Given the description of an element on the screen output the (x, y) to click on. 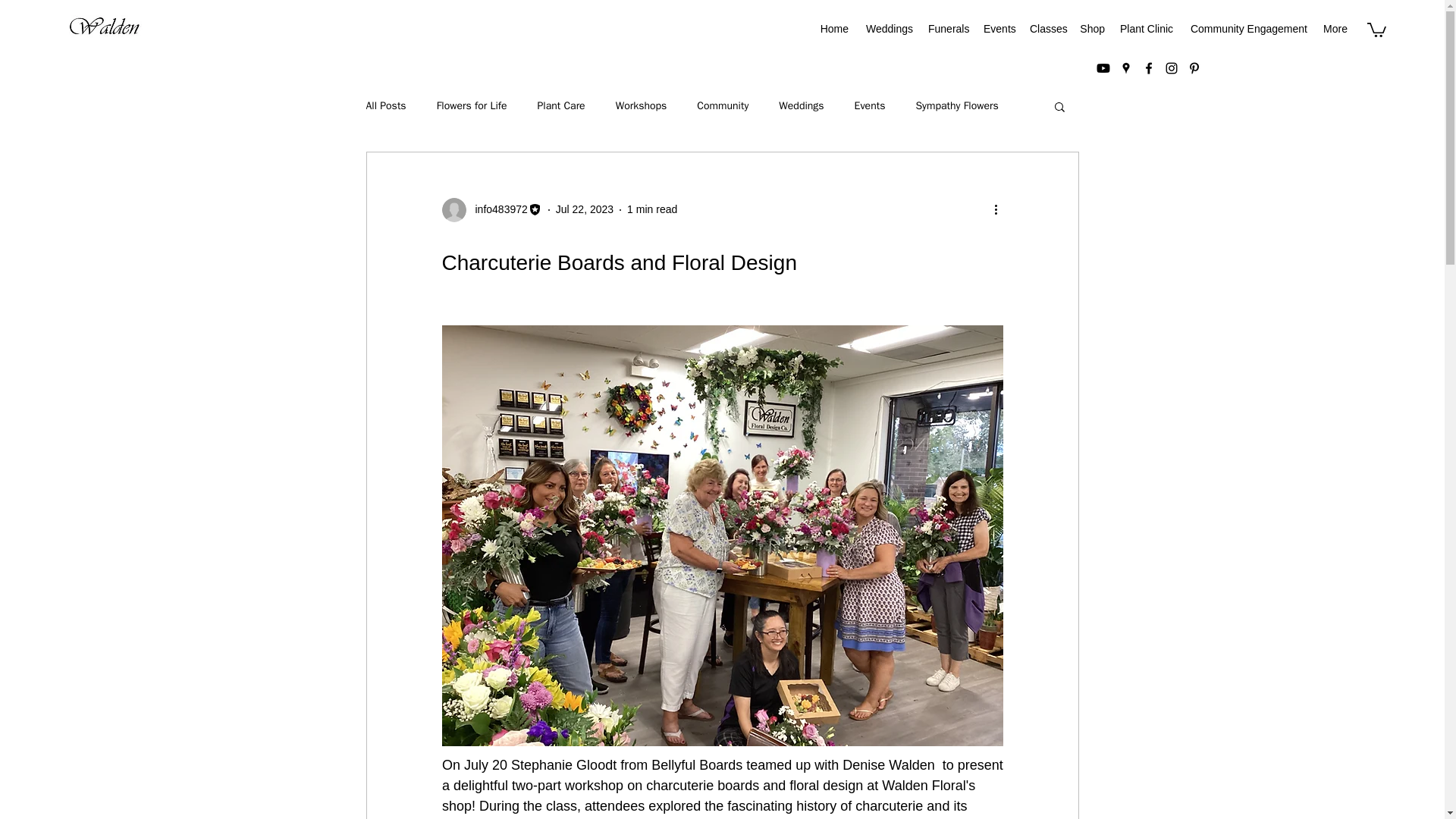
Classes (1046, 28)
Events (998, 28)
Funerals (947, 28)
Flowers for Life (471, 106)
Home (834, 28)
All Posts (385, 106)
Plant Clinic (1145, 28)
Plant Care (561, 106)
Community Engagement (1246, 28)
Jul 22, 2023 (584, 209)
1 min read (652, 209)
Shop (1091, 28)
info483972 (496, 209)
Workshops (640, 106)
Weddings (888, 28)
